Given the description of an element on the screen output the (x, y) to click on. 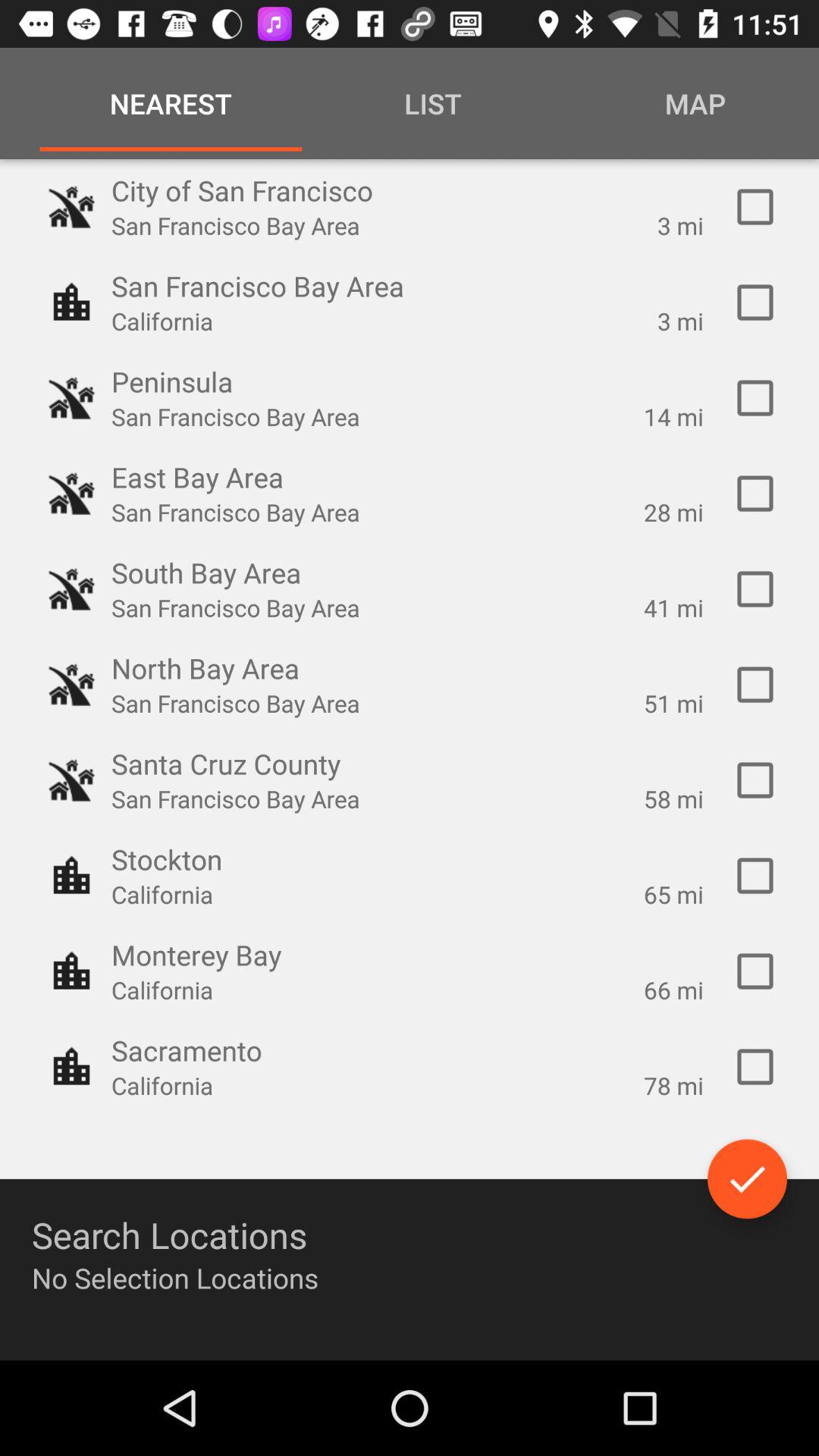
toggle for nearest location (755, 971)
